Given the description of an element on the screen output the (x, y) to click on. 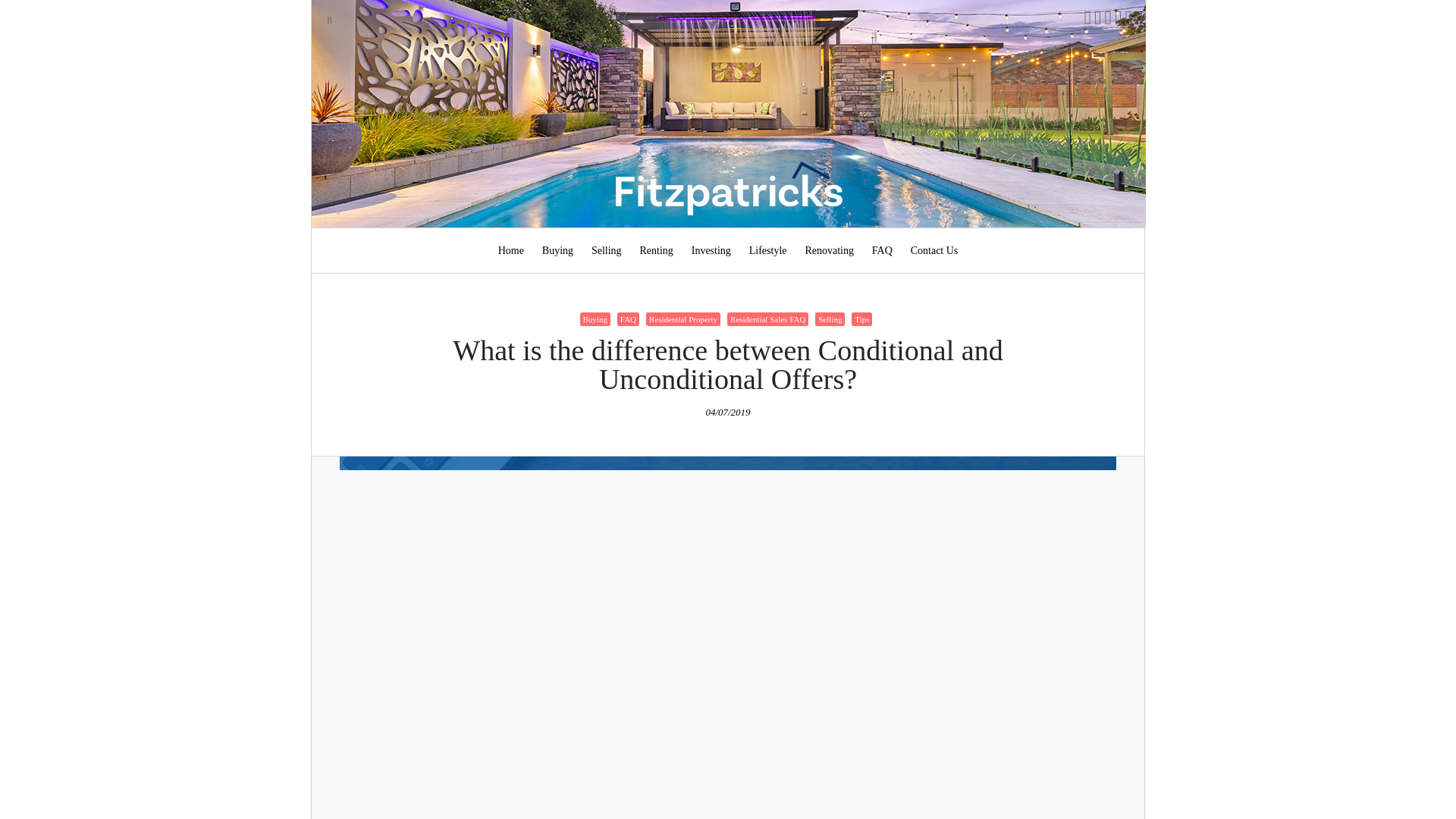
Buying (557, 250)
FAQ (628, 319)
Selling (829, 319)
Home (510, 250)
Tips (861, 319)
Buying (594, 319)
Lifestyle (767, 250)
Renovating (828, 250)
Selling (605, 250)
Renting (656, 250)
